Given the description of an element on the screen output the (x, y) to click on. 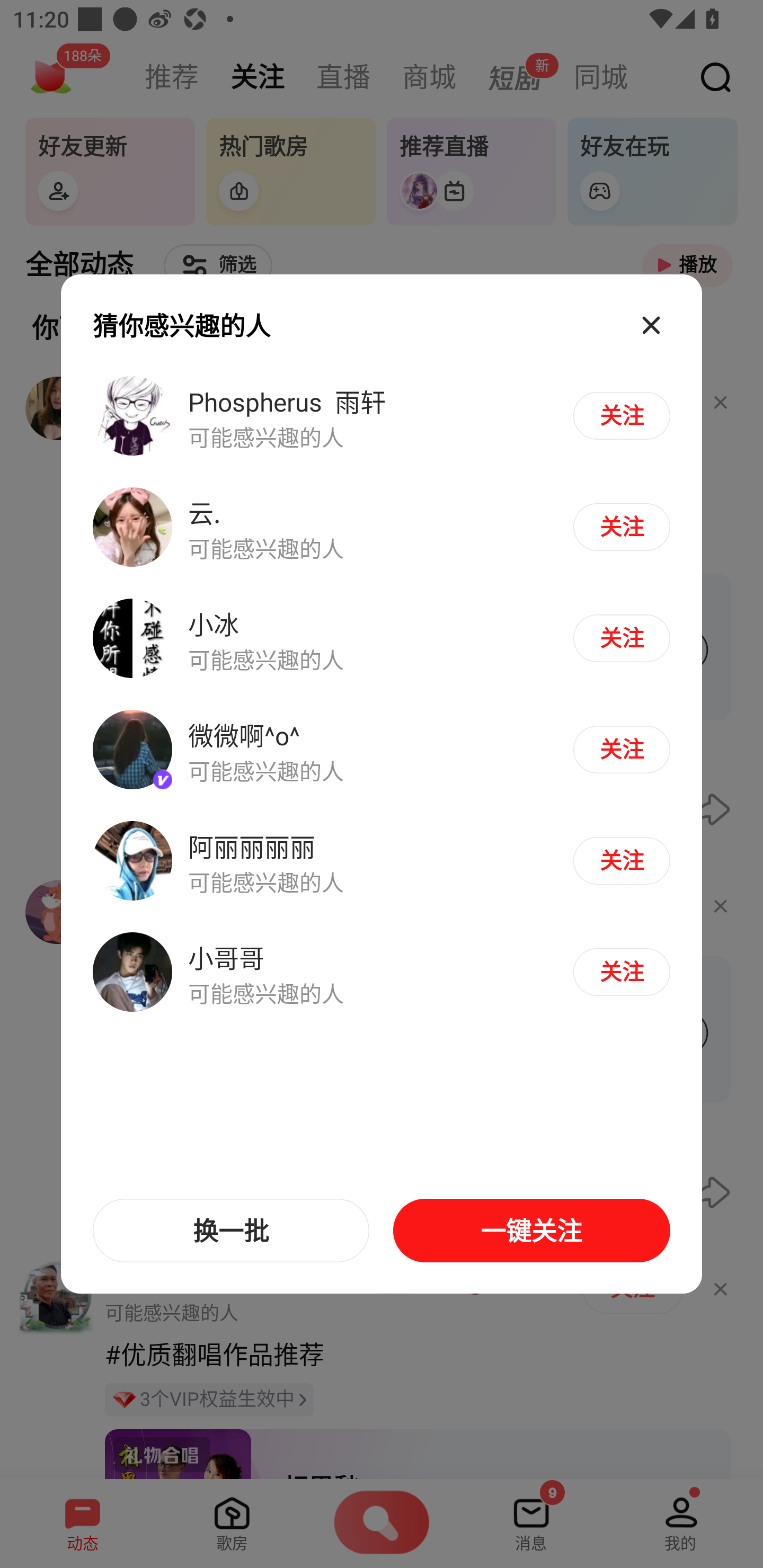
Phospherus  雨轩 可能感兴趣的人 关注 按钮 (381, 415)
关注 按钮 (621, 415)
云. 可能感兴趣的人 关注 按钮 (381, 527)
关注 按钮 (621, 526)
小冰 可能感兴趣的人 关注 按钮 (381, 638)
关注 按钮 (621, 637)
微微啊^o^ 可能感兴趣的人 关注 按钮 (381, 749)
关注 按钮 (621, 749)
阿丽丽丽丽 可能感兴趣的人 关注 按钮 (381, 860)
关注 按钮 (621, 860)
小哥哥 可能感兴趣的人 关注 按钮 (381, 971)
关注 按钮 (621, 971)
换一批 按钮 (231, 1230)
一键关注 按钮 (530, 1230)
